Given the description of an element on the screen output the (x, y) to click on. 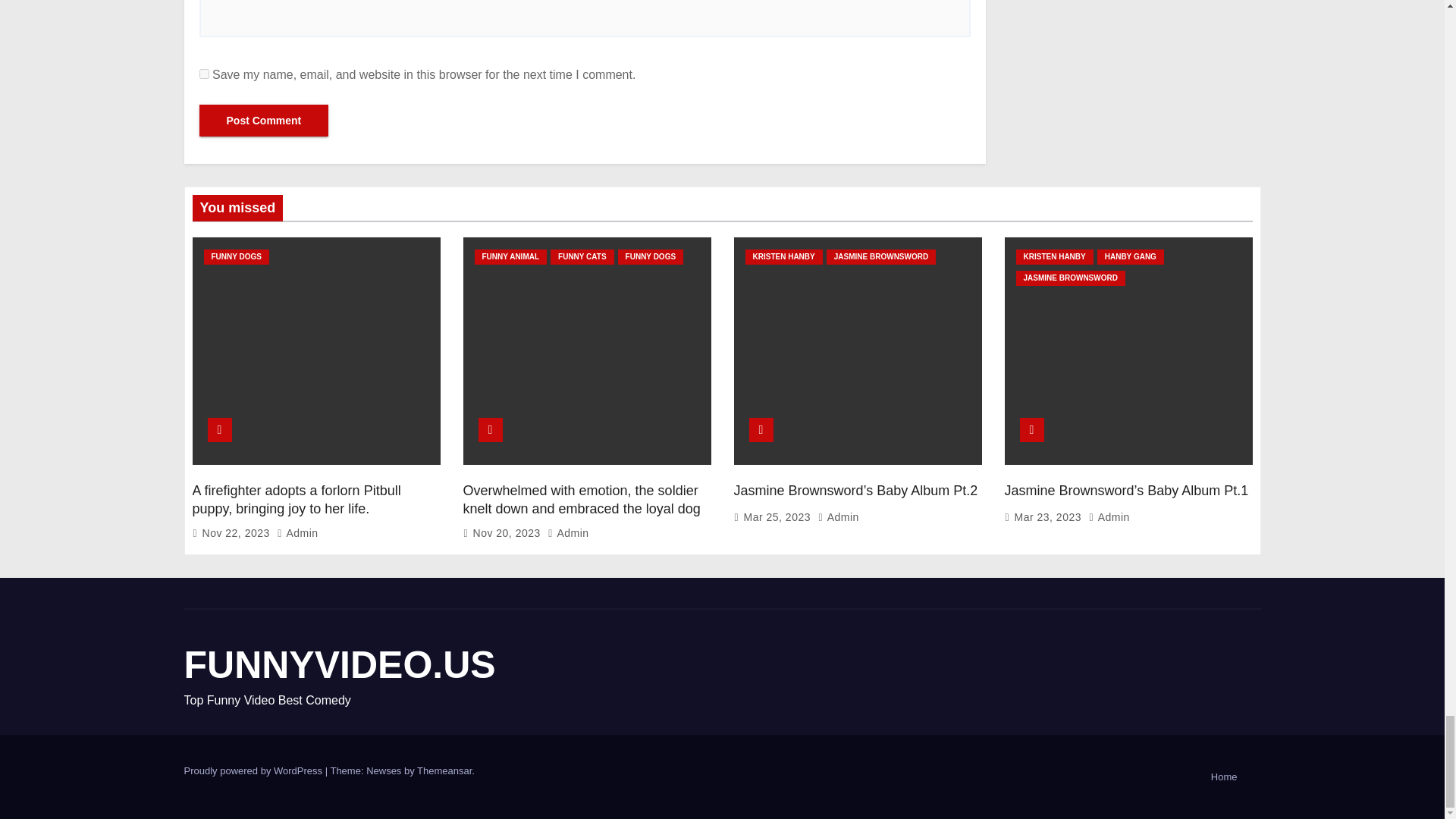
yes (203, 73)
Home (1223, 776)
Post Comment (263, 120)
